Given the description of an element on the screen output the (x, y) to click on. 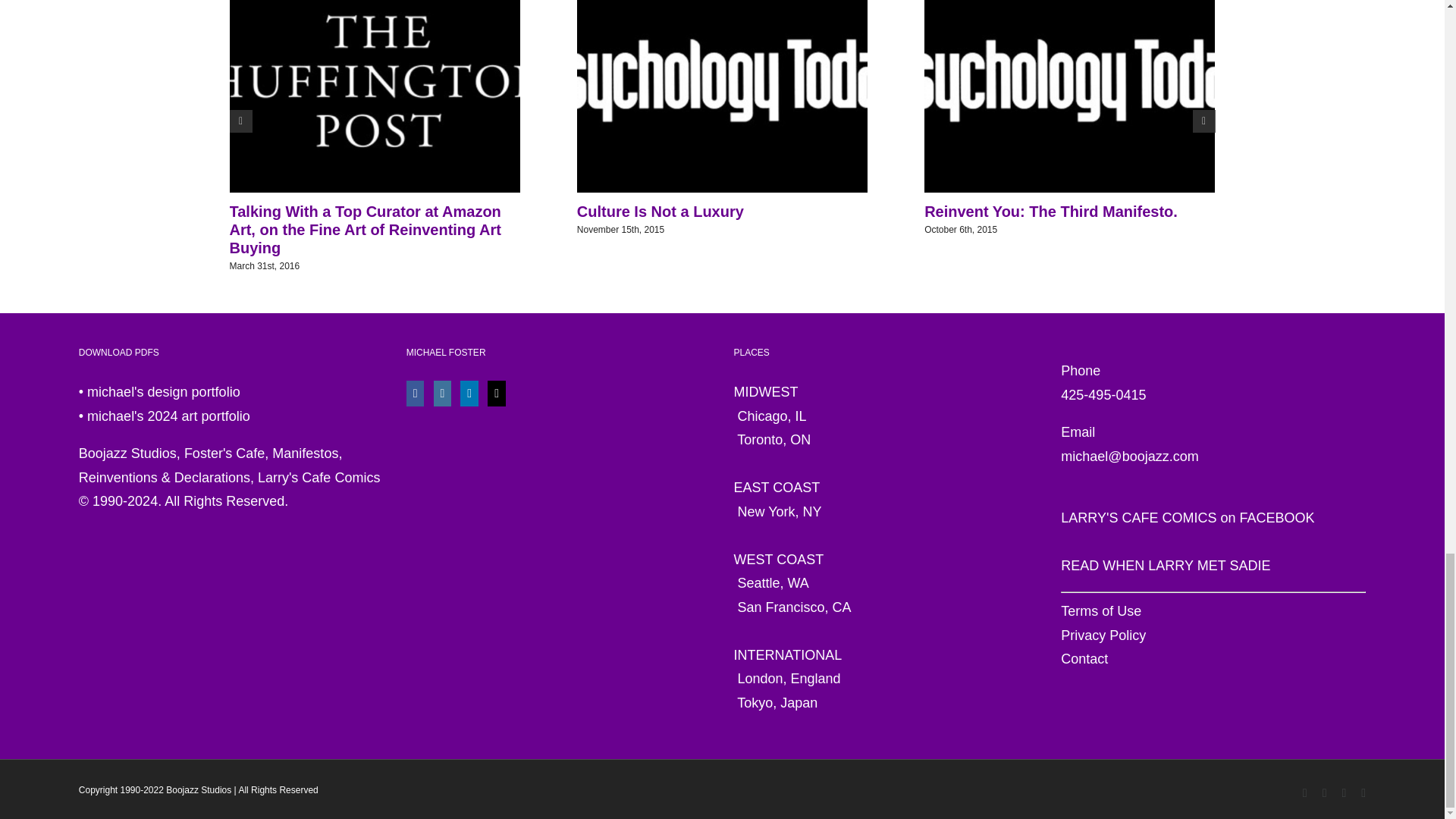
Reinvent You: The Third Manifesto. (1050, 211)
Culture Is Not a Luxury (660, 211)
